Given the description of an element on the screen output the (x, y) to click on. 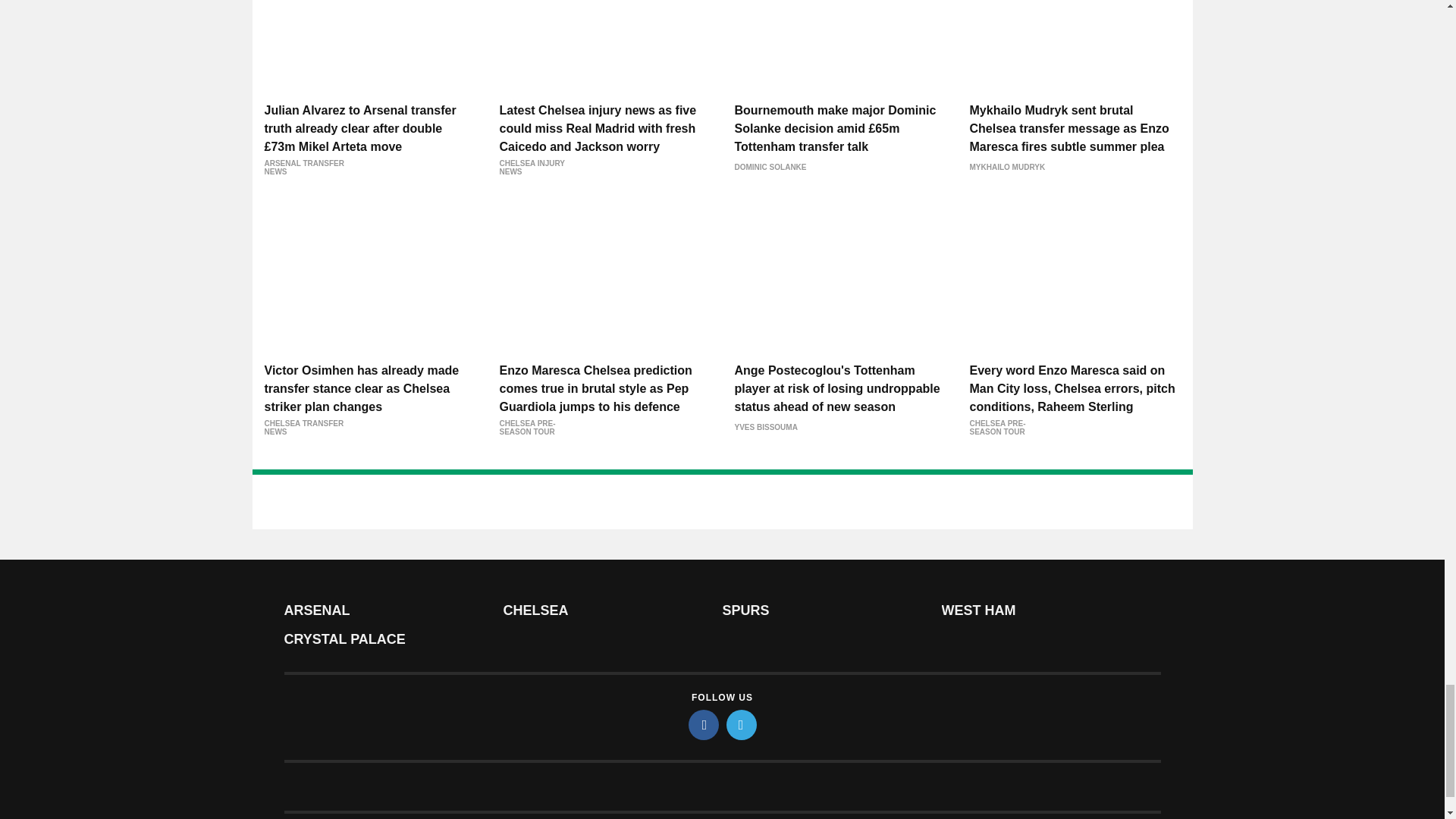
facebook (703, 725)
twitter (741, 725)
